Given the description of an element on the screen output the (x, y) to click on. 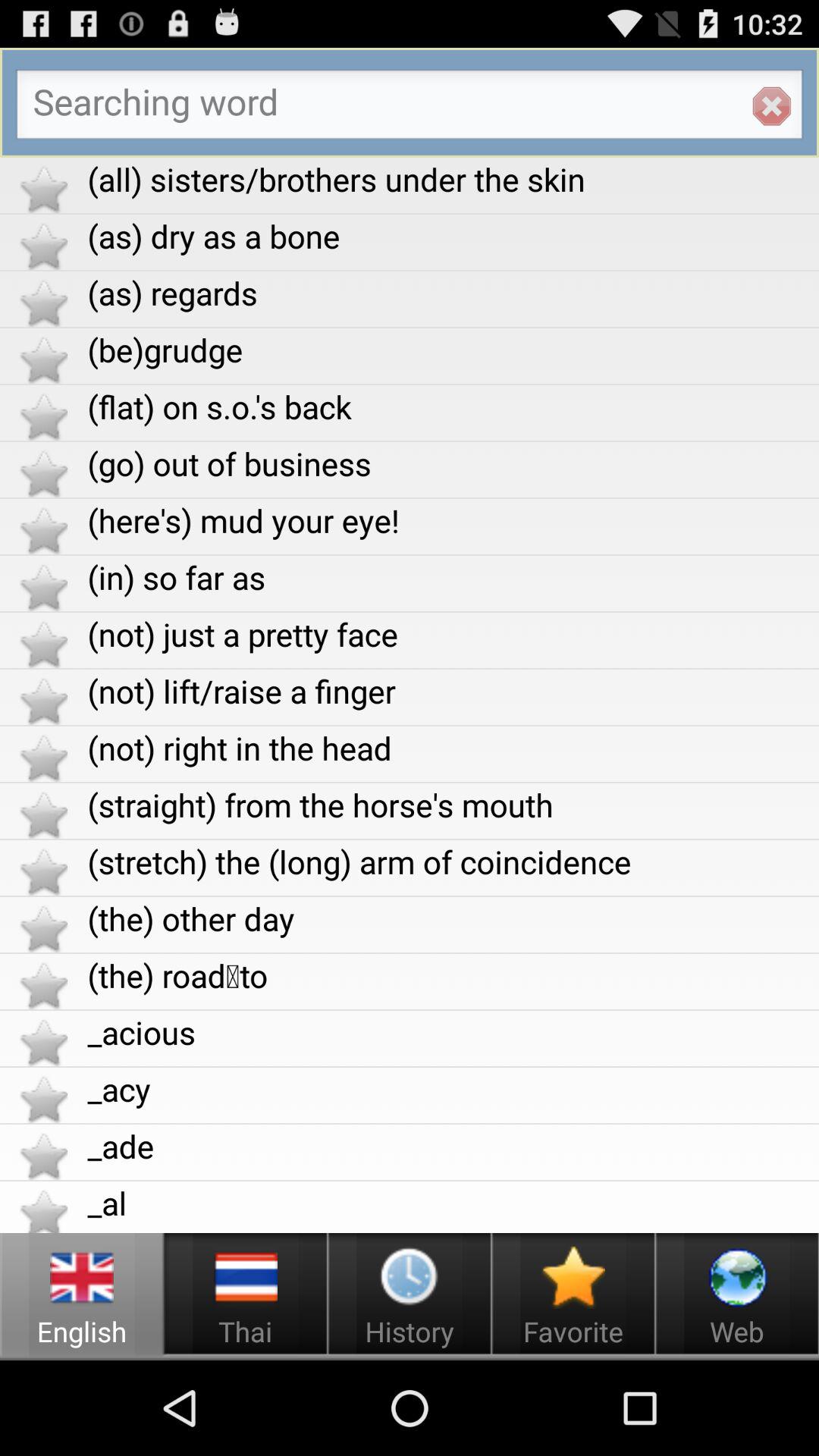
turn on the item below here s mud item (453, 576)
